Given the description of an element on the screen output the (x, y) to click on. 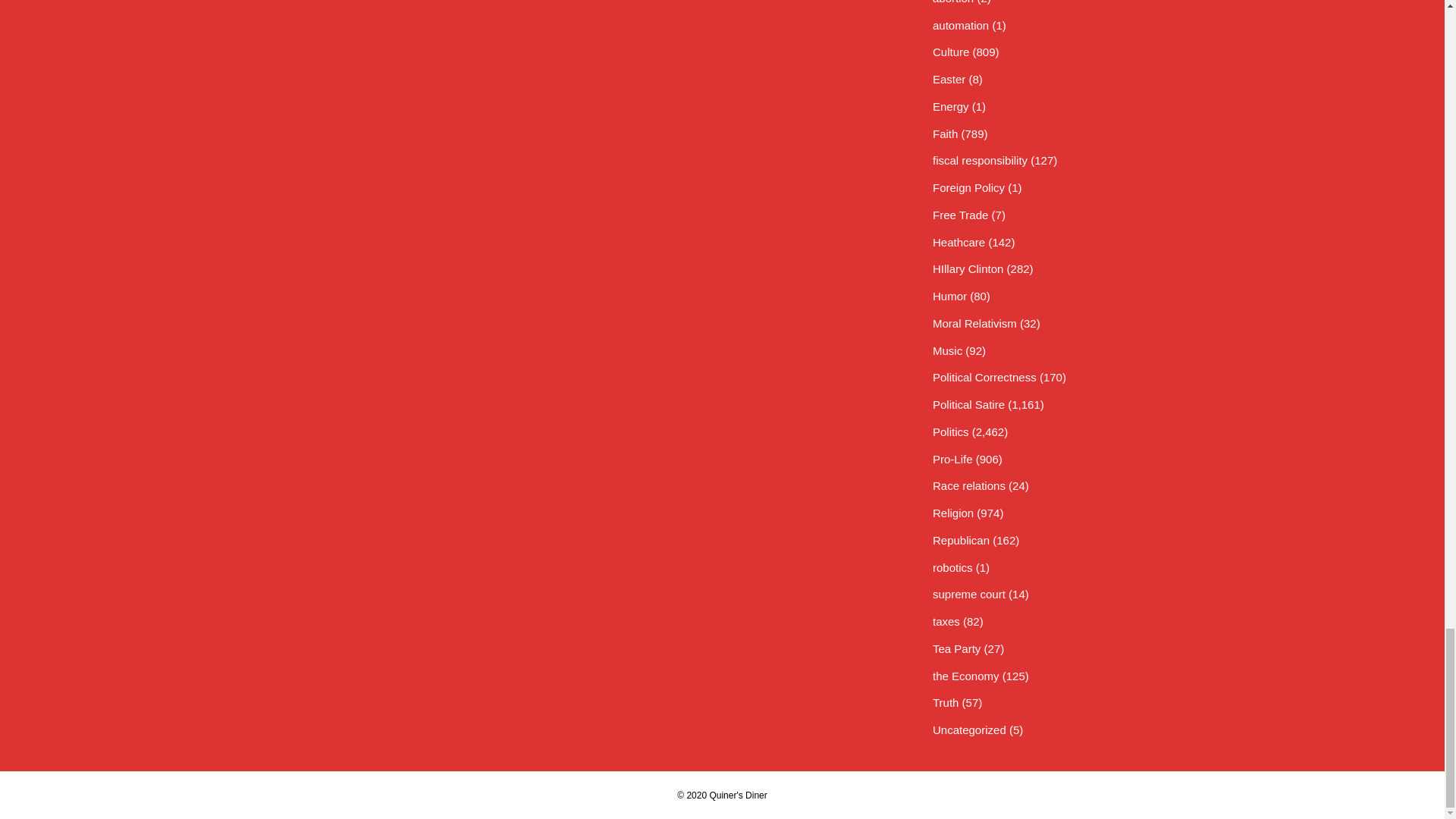
abortion (953, 2)
Easter (949, 78)
Foreign Policy (968, 187)
Energy (951, 106)
automation (960, 24)
Culture (951, 51)
Free Trade (960, 214)
Heathcare (959, 241)
HIllary Clinton (968, 268)
fiscal responsibility (980, 160)
